Given the description of an element on the screen output the (x, y) to click on. 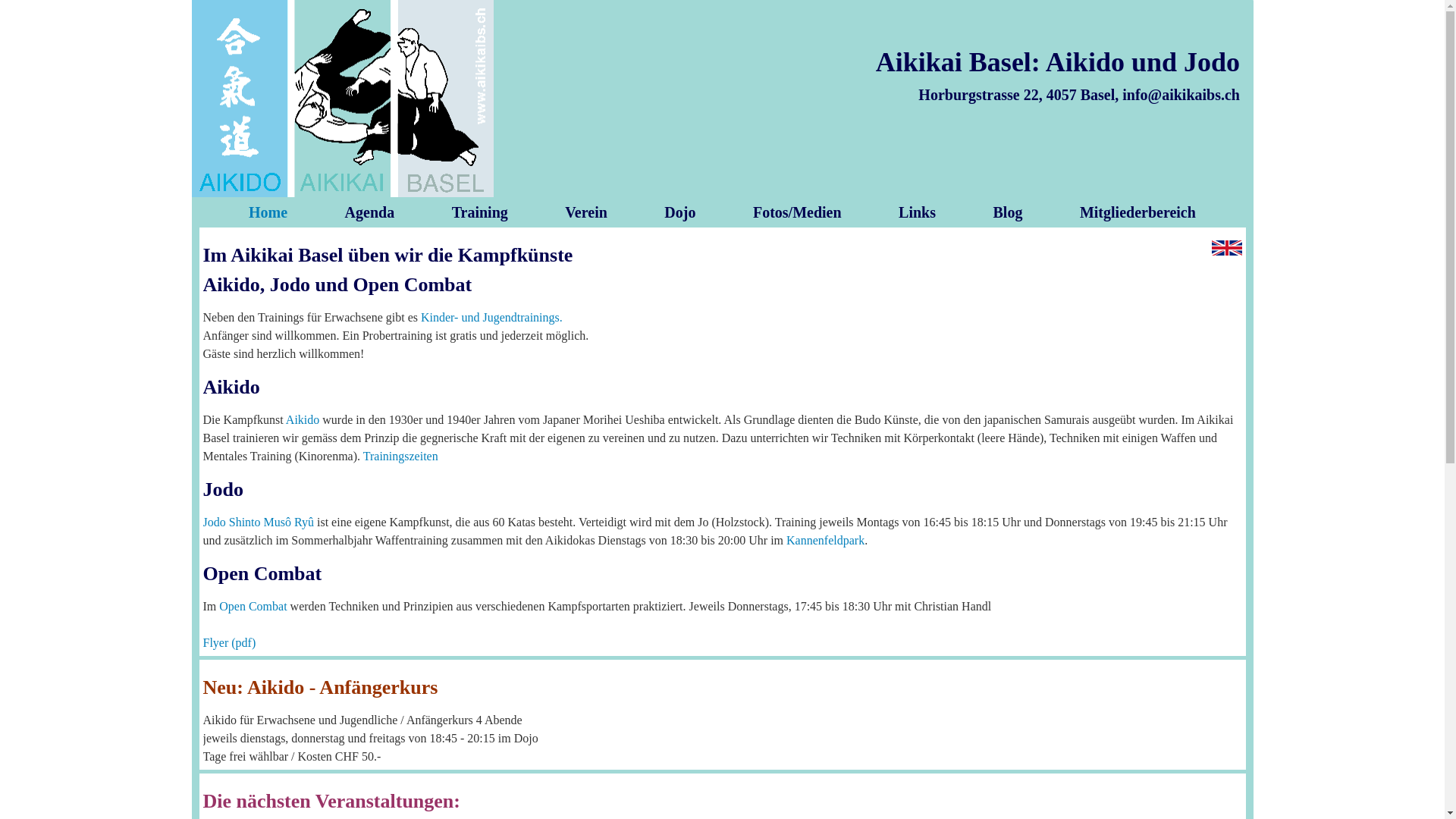
Training Element type: text (479, 212)
Verein Element type: text (585, 212)
Kinder- und Jugendtrainings. Element type: text (491, 316)
Flyer (pdf) Element type: text (229, 642)
Links Element type: text (916, 212)
Blog Element type: text (1007, 212)
Agenda Element type: text (370, 212)
Fotos/Medien Element type: text (797, 212)
Trainingszeiten Element type: text (400, 455)
Aikido Element type: text (302, 419)
Dojo Element type: text (679, 212)
Mitgliederbereich Element type: text (1137, 212)
Home Element type: text (267, 212)
Kannenfeldpark Element type: text (825, 539)
Open Combat Element type: text (252, 605)
english Element type: hover (1226, 247)
